Given the description of an element on the screen output the (x, y) to click on. 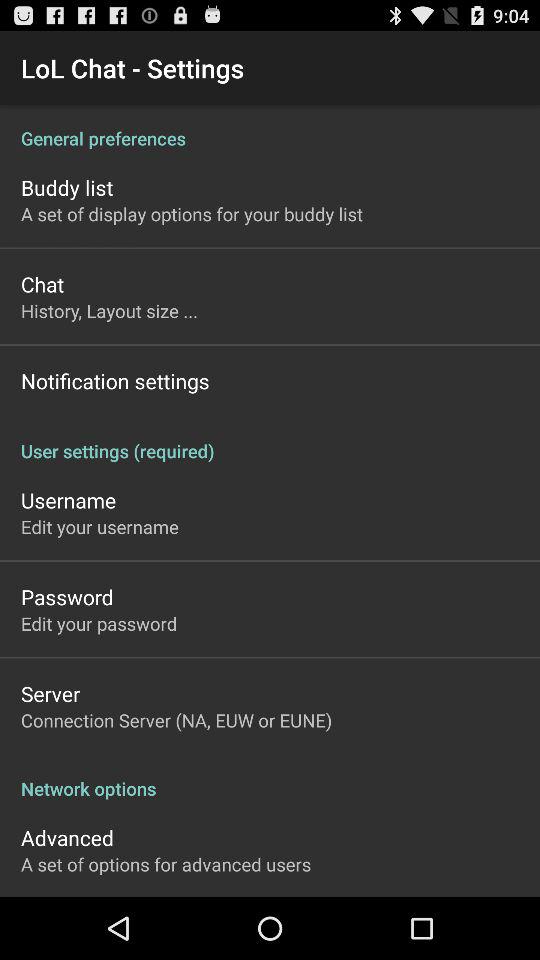
open the app below the notification settings item (270, 440)
